Given the description of an element on the screen output the (x, y) to click on. 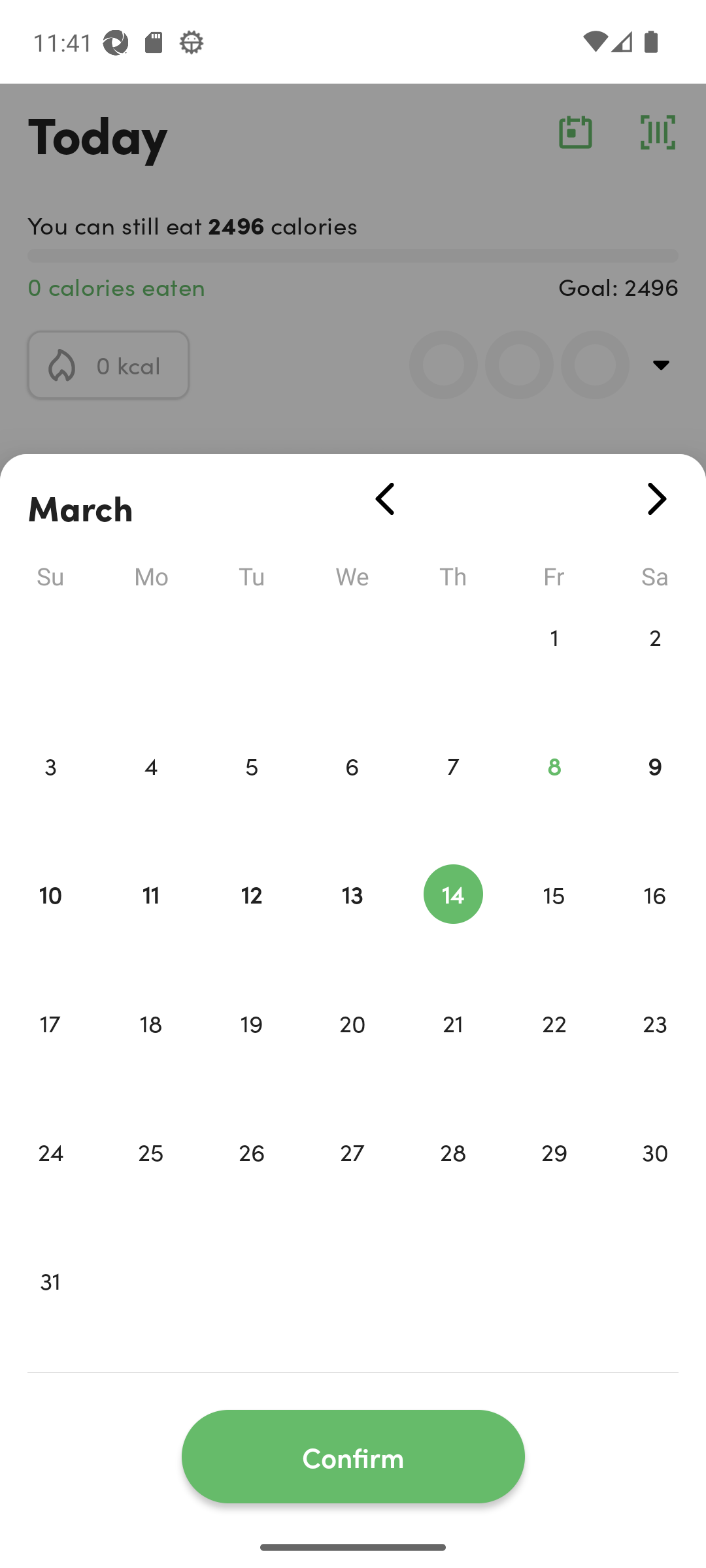
1 (554, 663)
2 (655, 663)
3 (50, 793)
4 (150, 793)
5 (251, 793)
6 (352, 793)
7 (453, 793)
8 (554, 793)
9 (655, 793)
10 (50, 921)
11 (150, 921)
12 (251, 921)
13 (352, 921)
14 (453, 921)
15 (554, 921)
16 (655, 921)
17 (50, 1050)
18 (150, 1050)
19 (251, 1050)
20 (352, 1050)
21 (453, 1050)
22 (554, 1050)
23 (655, 1050)
24 (50, 1178)
25 (150, 1178)
26 (251, 1178)
27 (352, 1178)
28 (453, 1178)
29 (554, 1178)
30 (655, 1178)
31 (50, 1307)
Confirm (353, 1456)
